Given the description of an element on the screen output the (x, y) to click on. 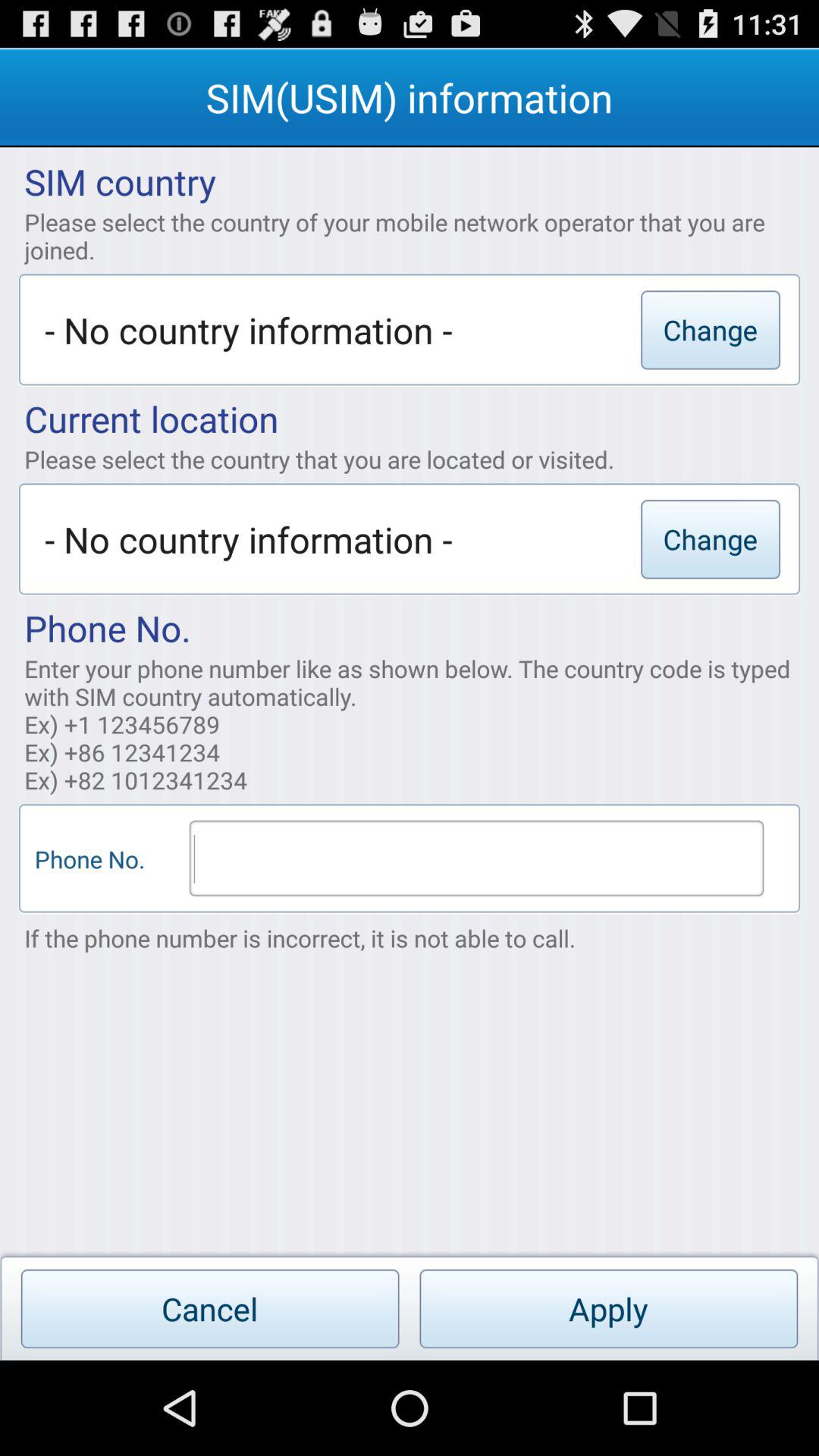
click item at the bottom right corner (608, 1309)
